Given the description of an element on the screen output the (x, y) to click on. 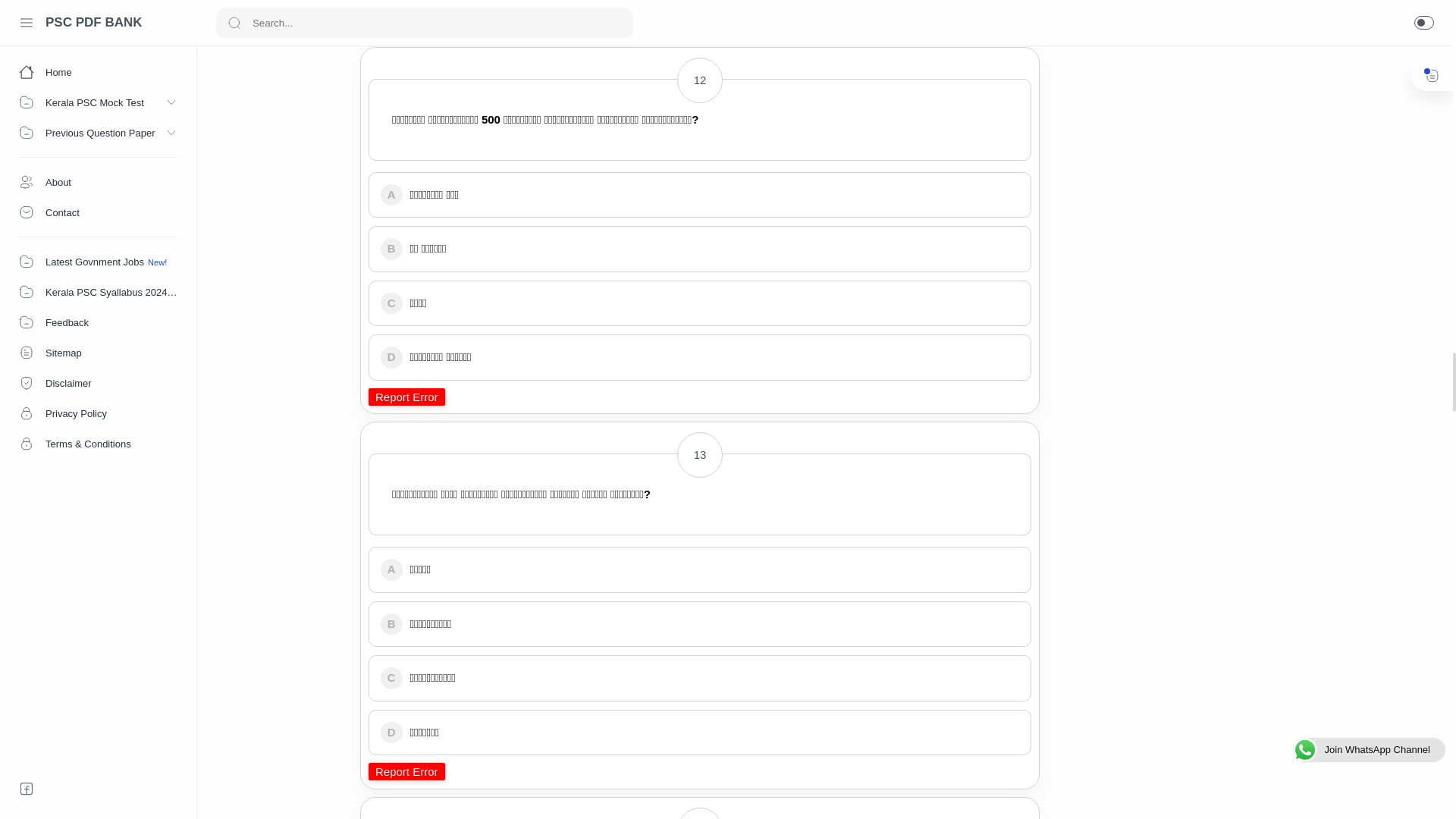
Report Error (406, 21)
Report Error (406, 396)
Report Error (406, 771)
